Given the description of an element on the screen output the (x, y) to click on. 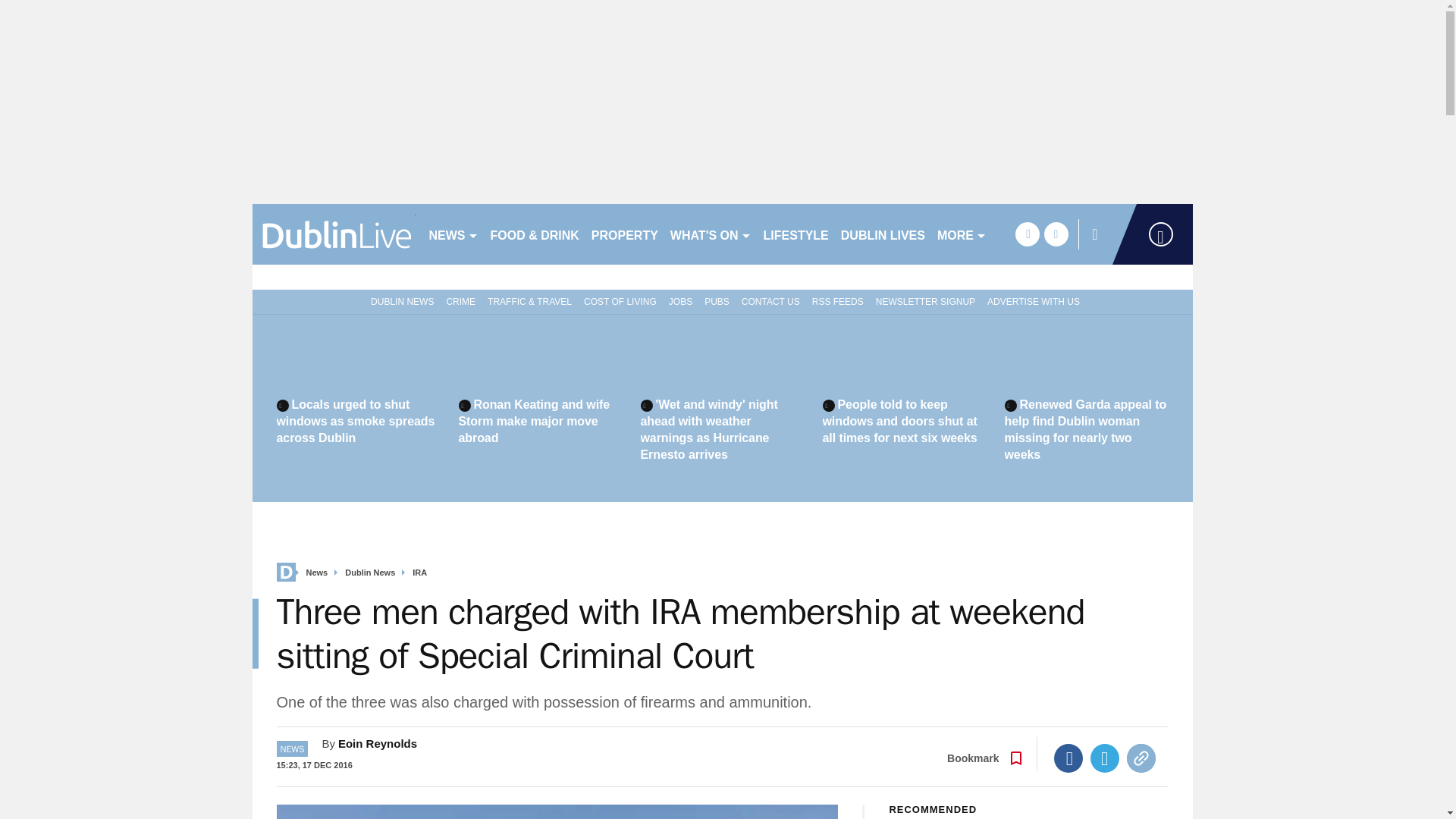
DUBLIN LIVES (882, 233)
LIFESTYLE (795, 233)
twitter (1055, 233)
MORE (961, 233)
dublinlive (332, 233)
facebook (1026, 233)
Twitter (1104, 758)
PROPERTY (624, 233)
WHAT'S ON (710, 233)
NEWS (453, 233)
